Given the description of an element on the screen output the (x, y) to click on. 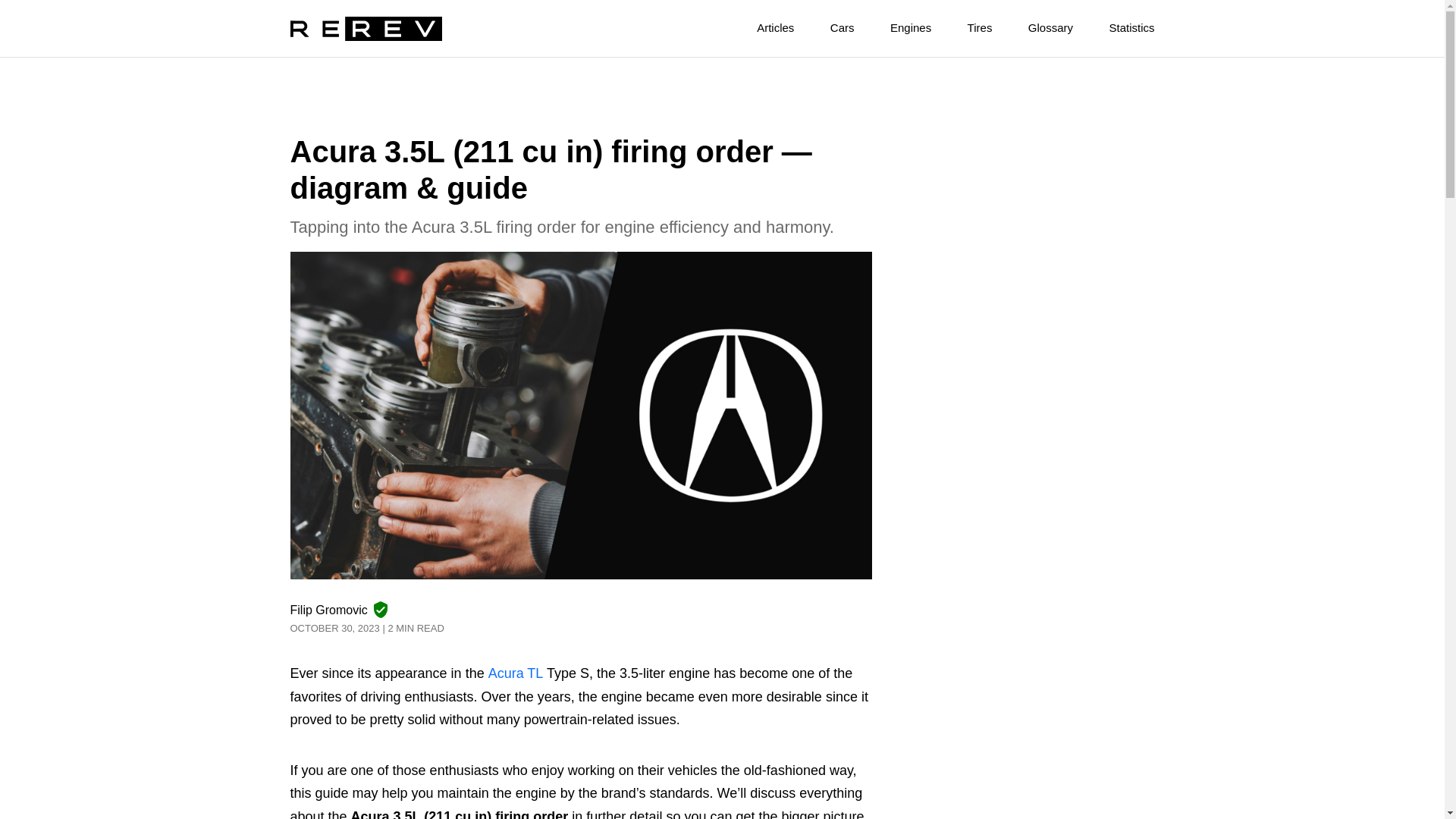
Engines (894, 24)
Acura TL (515, 672)
Glossary (1034, 24)
Articles (758, 24)
Cars (825, 24)
Tires (963, 24)
Statistics (1114, 24)
REREV (365, 28)
